Given the description of an element on the screen output the (x, y) to click on. 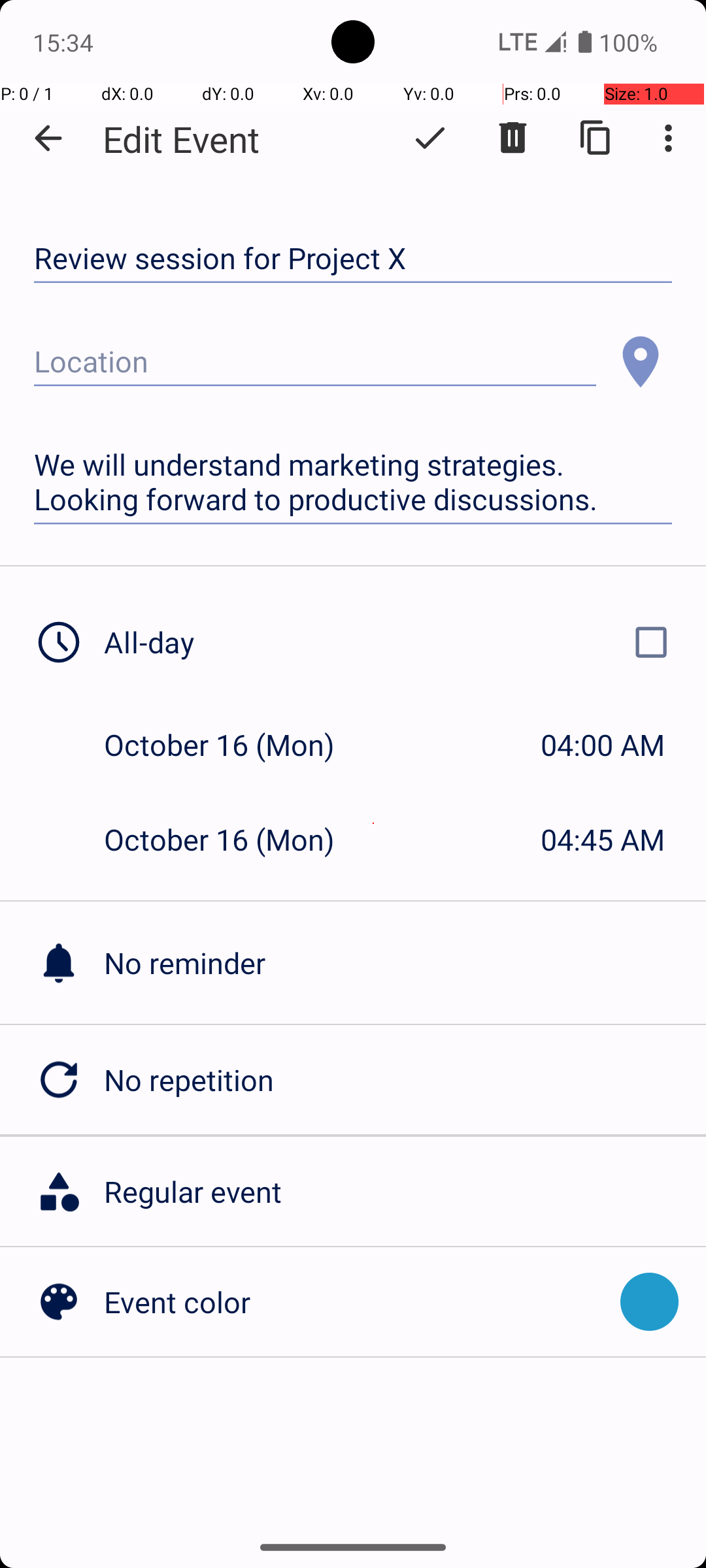
Review session for Project X Element type: android.widget.EditText (352, 258)
We will understand marketing strategies. Looking forward to productive discussions. Element type: android.widget.EditText (352, 482)
04:00 AM Element type: android.widget.TextView (602, 744)
04:45 AM Element type: android.widget.TextView (602, 838)
